Given the description of an element on the screen output the (x, y) to click on. 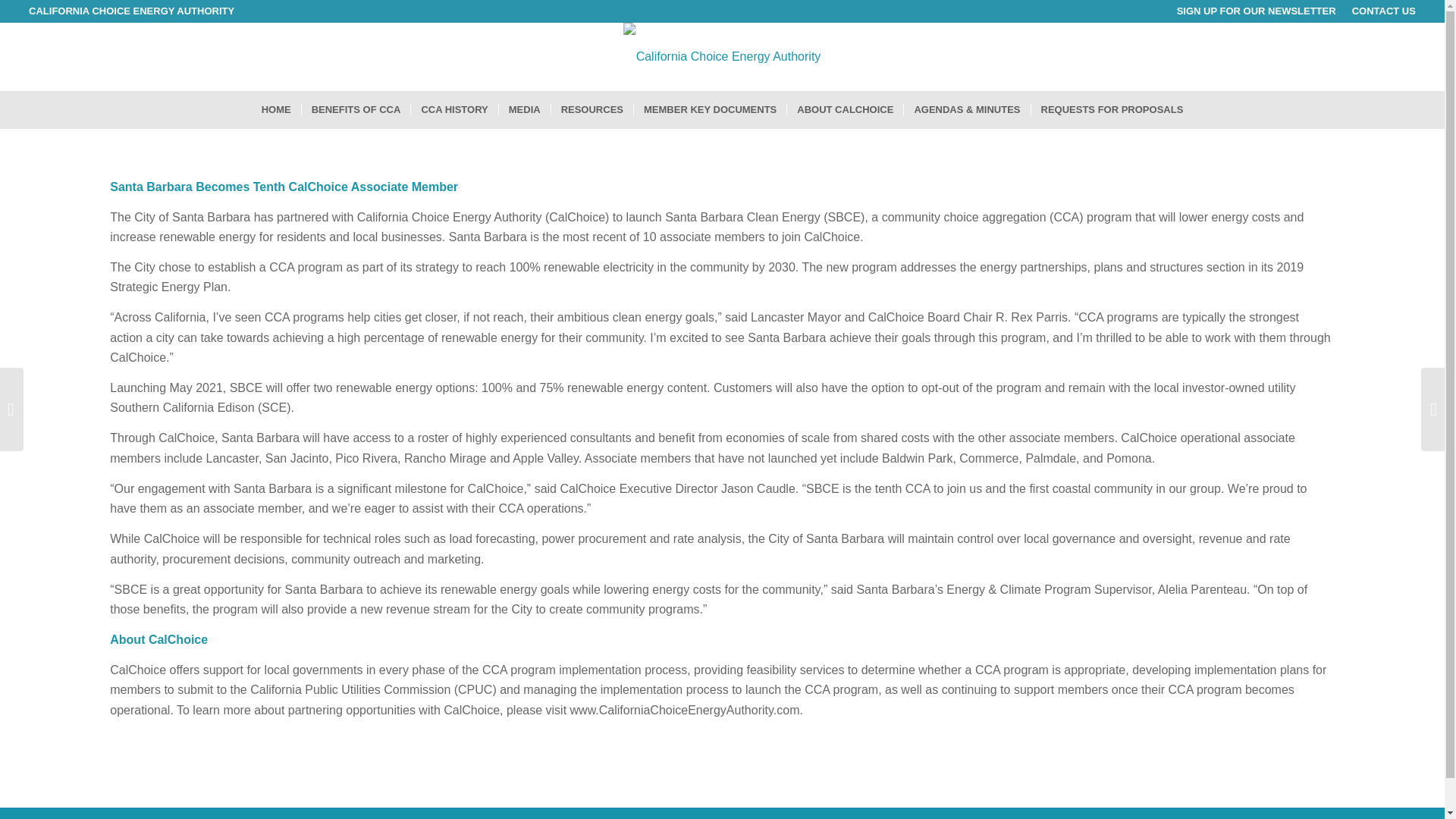
MEMBER KEY DOCUMENTS (709, 109)
CONTACT US (1383, 11)
REQUESTS FOR PROPOSALS (1111, 109)
CCA HISTORY (453, 109)
ABOUT CALCHOICE (844, 109)
HOME (276, 109)
SIGN UP FOR OUR NEWSLETTER (1256, 11)
BENEFITS OF CCA (355, 109)
MEDIA (523, 109)
RESOURCES (591, 109)
